Given the description of an element on the screen output the (x, y) to click on. 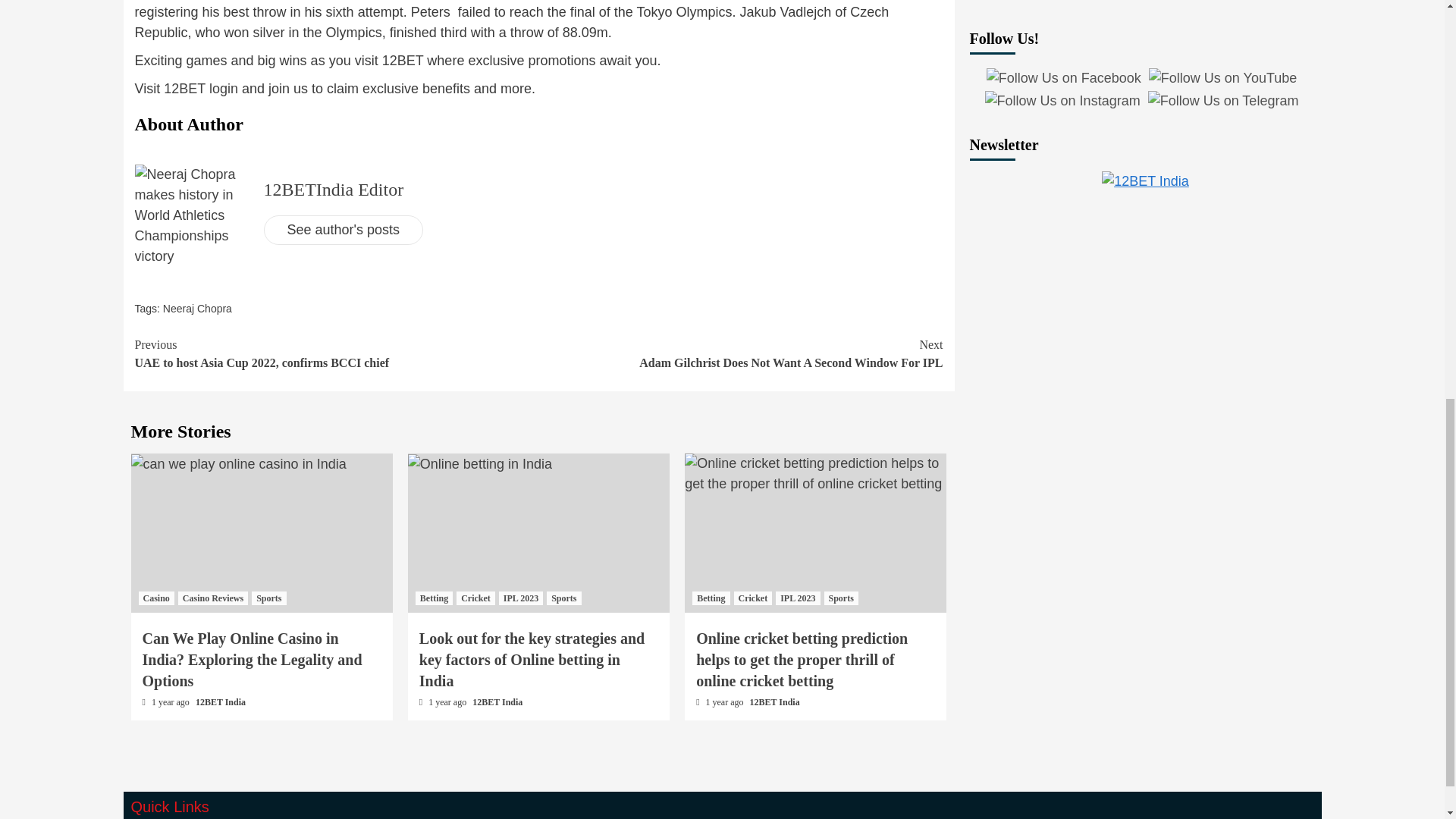
Casino (155, 598)
Sports (268, 598)
Cricket (476, 598)
12BET (402, 60)
Casino Reviews (212, 598)
12BET login (200, 88)
Betting (433, 598)
Sports (336, 353)
